Given the description of an element on the screen output the (x, y) to click on. 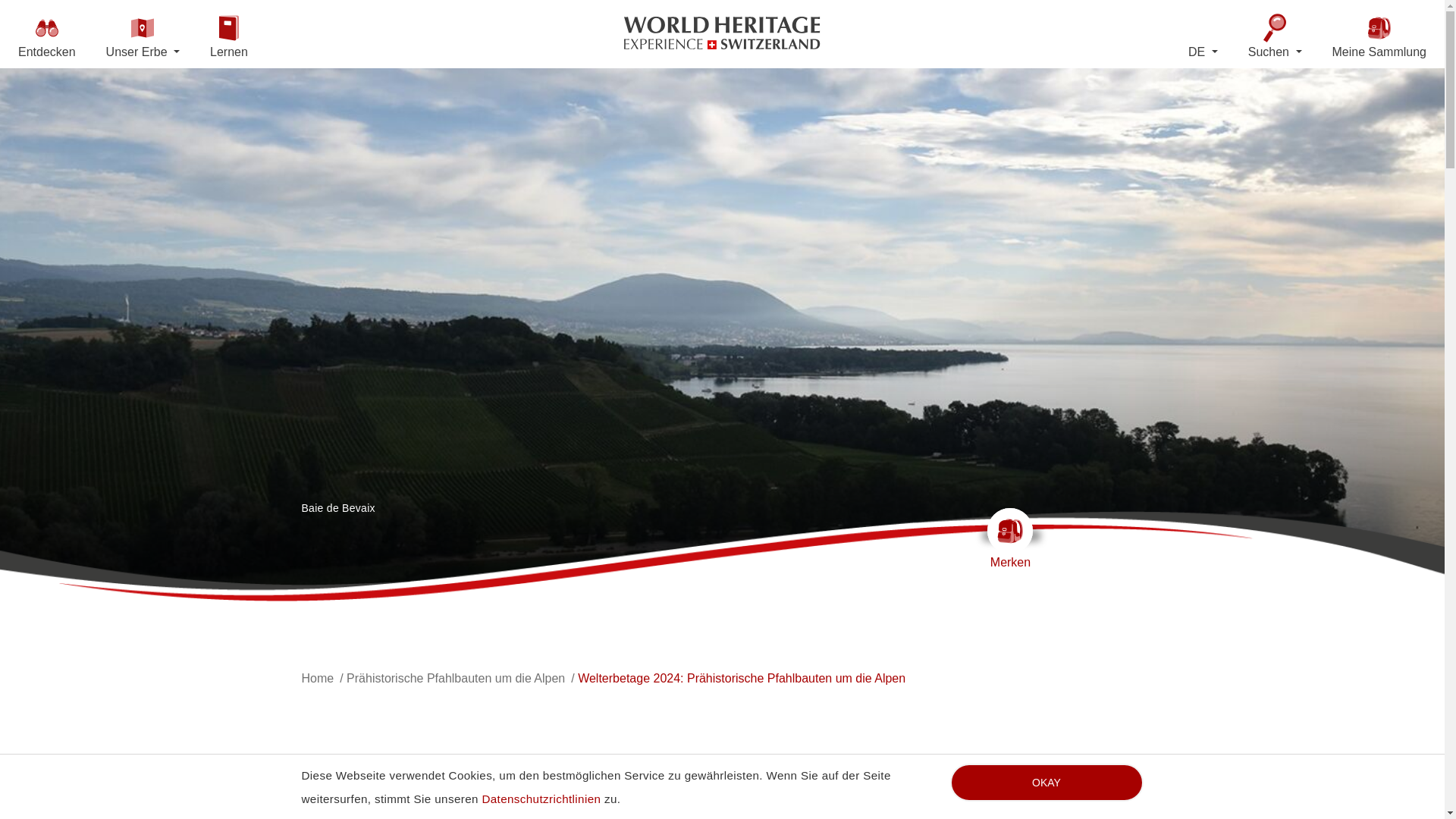
DE (1203, 51)
Suchen (1274, 36)
Entdecken (46, 36)
Unser Erbe (143, 36)
Meine Sammlung (1378, 36)
